Given the description of an element on the screen output the (x, y) to click on. 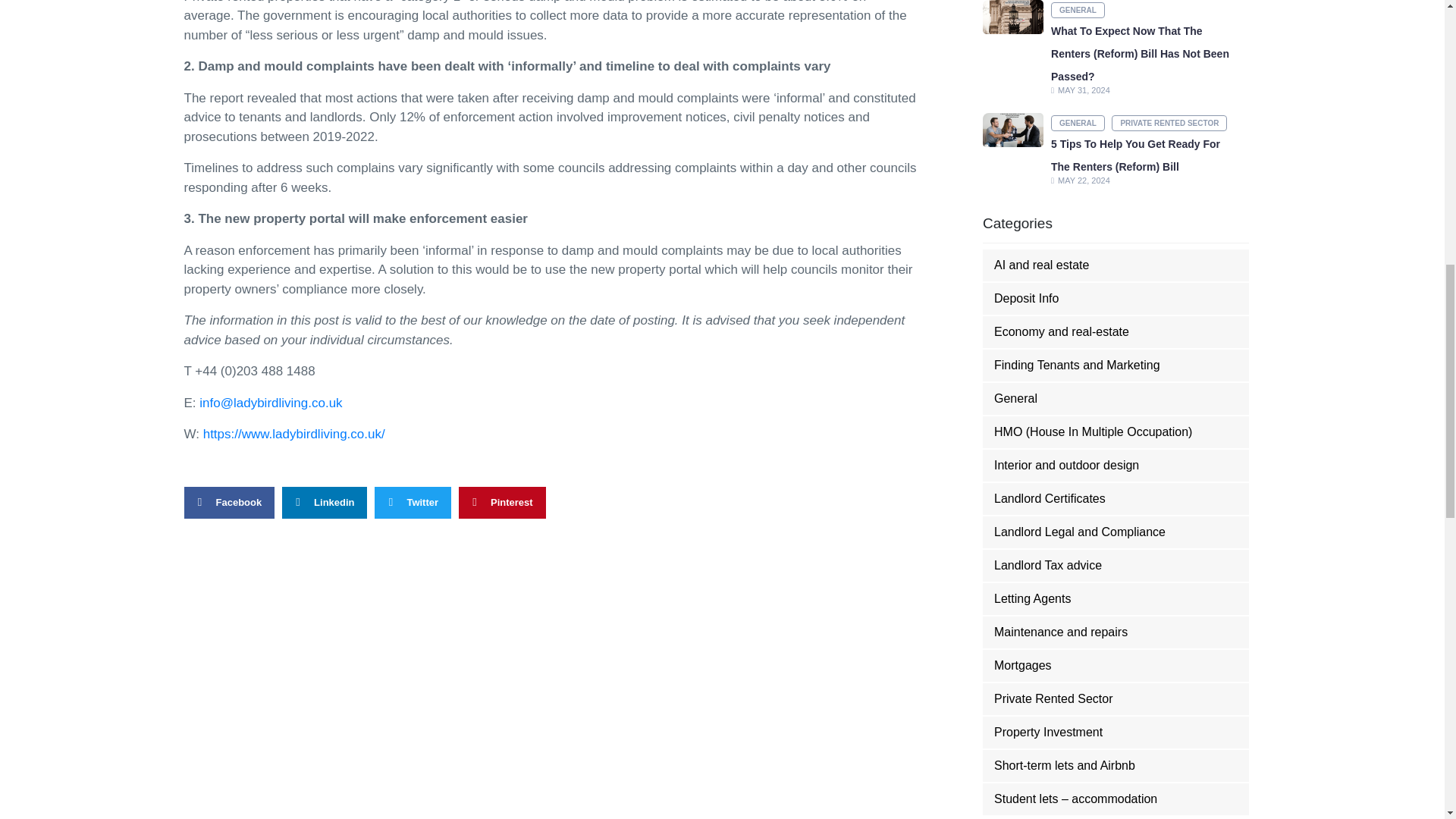
GENERAL (1078, 10)
GENERAL (1078, 123)
